Given the description of an element on the screen output the (x, y) to click on. 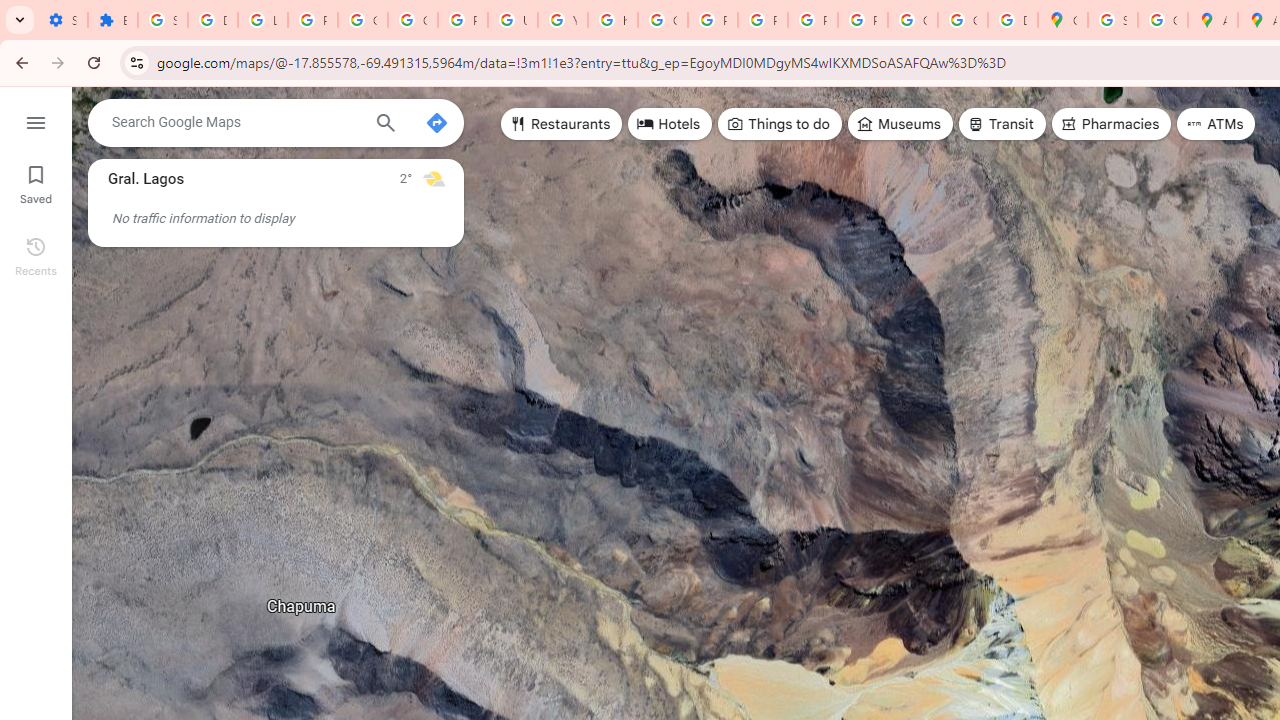
Create your Google Account (1162, 20)
Recents (35, 254)
Privacy Help Center - Policies Help (712, 20)
Sign in - Google Accounts (163, 20)
Search Google Maps (235, 121)
Saved (35, 182)
Menu (35, 120)
Restaurants (561, 124)
Learn how to find your photos - Google Photos Help (262, 20)
